Given the description of an element on the screen output the (x, y) to click on. 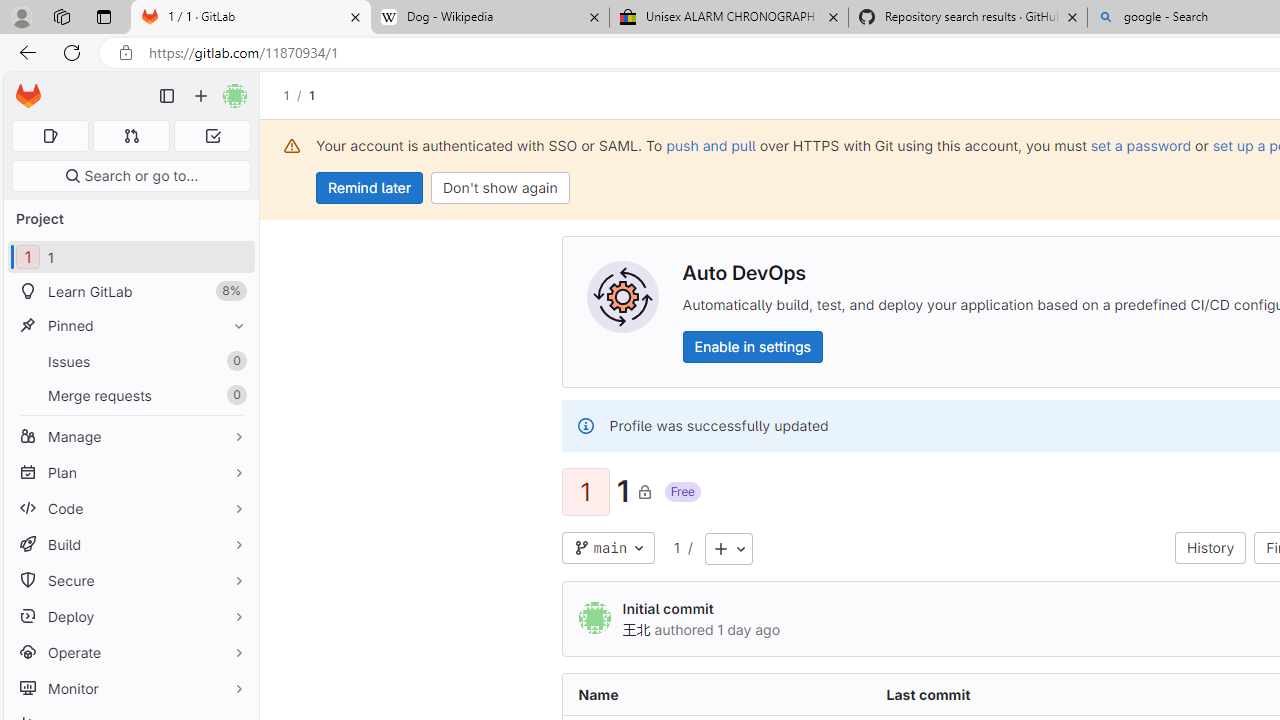
Workspaces (61, 16)
Issues0 (130, 361)
Build (130, 543)
11 (130, 257)
Build (130, 543)
Deploy (130, 615)
Back (24, 52)
Deploy (130, 615)
Don't show again (500, 187)
Plan (130, 471)
Learn GitLab 8% (130, 291)
Issues 0 (130, 361)
